Given the description of an element on the screen output the (x, y) to click on. 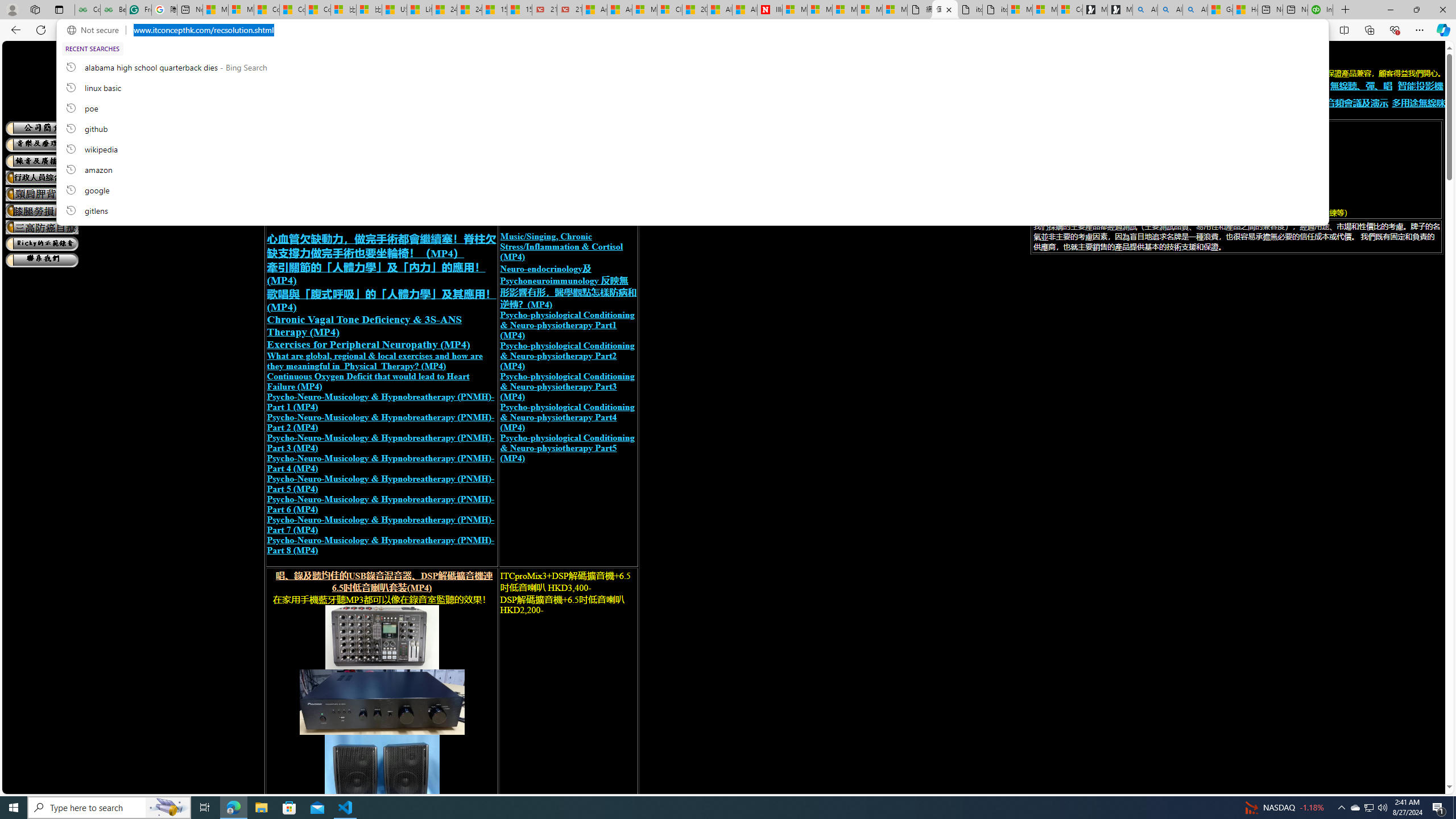
Alabama high school quarterback dies - Search Videos (1194, 9)
gitlens, recent searches from history (691, 209)
linux basic, recent searches from history (691, 86)
How to Use a TV as a Computer Monitor (1244, 9)
